Given the description of an element on the screen output the (x, y) to click on. 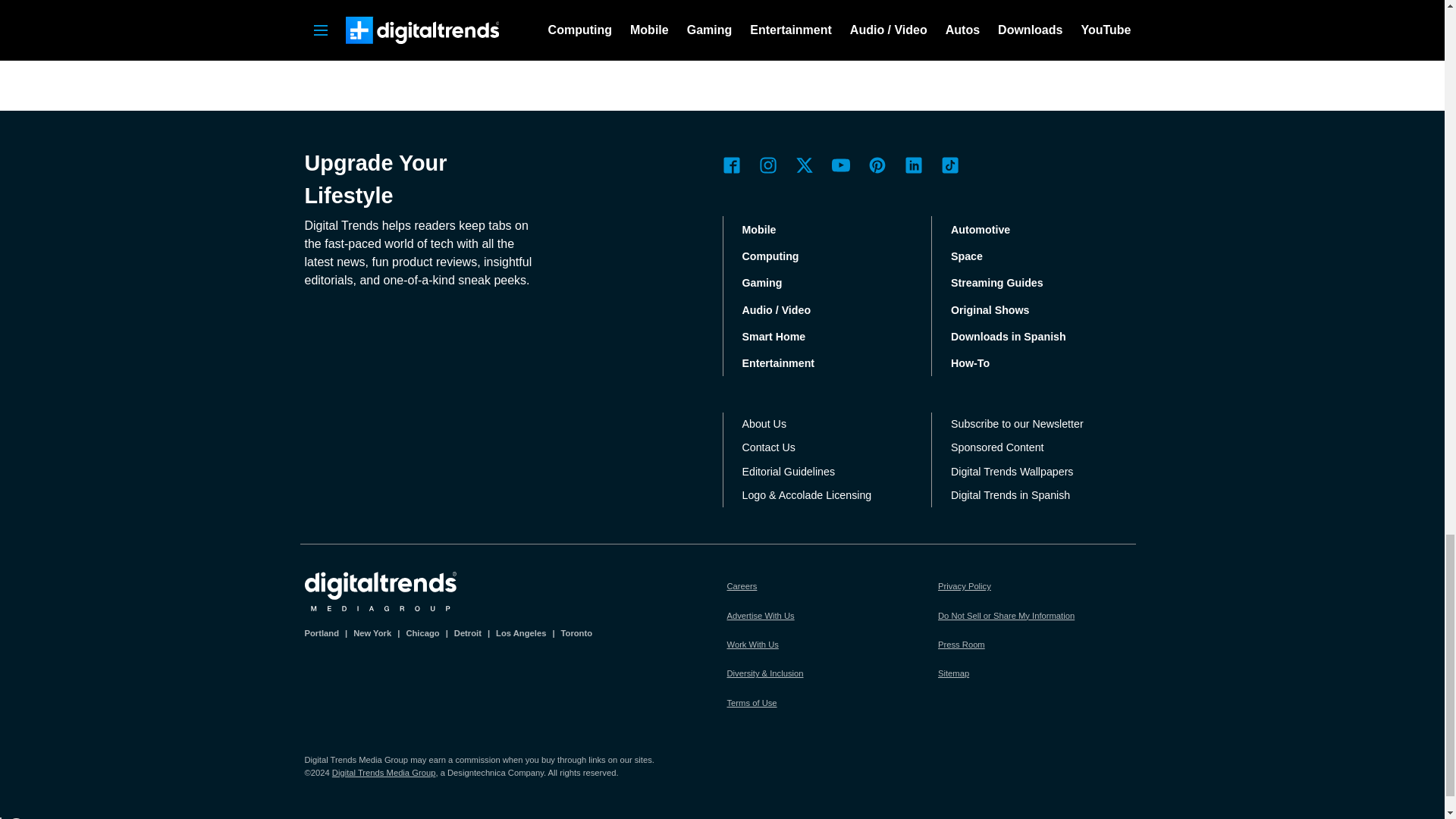
Digital Trends Media Group (380, 590)
